Given the description of an element on the screen output the (x, y) to click on. 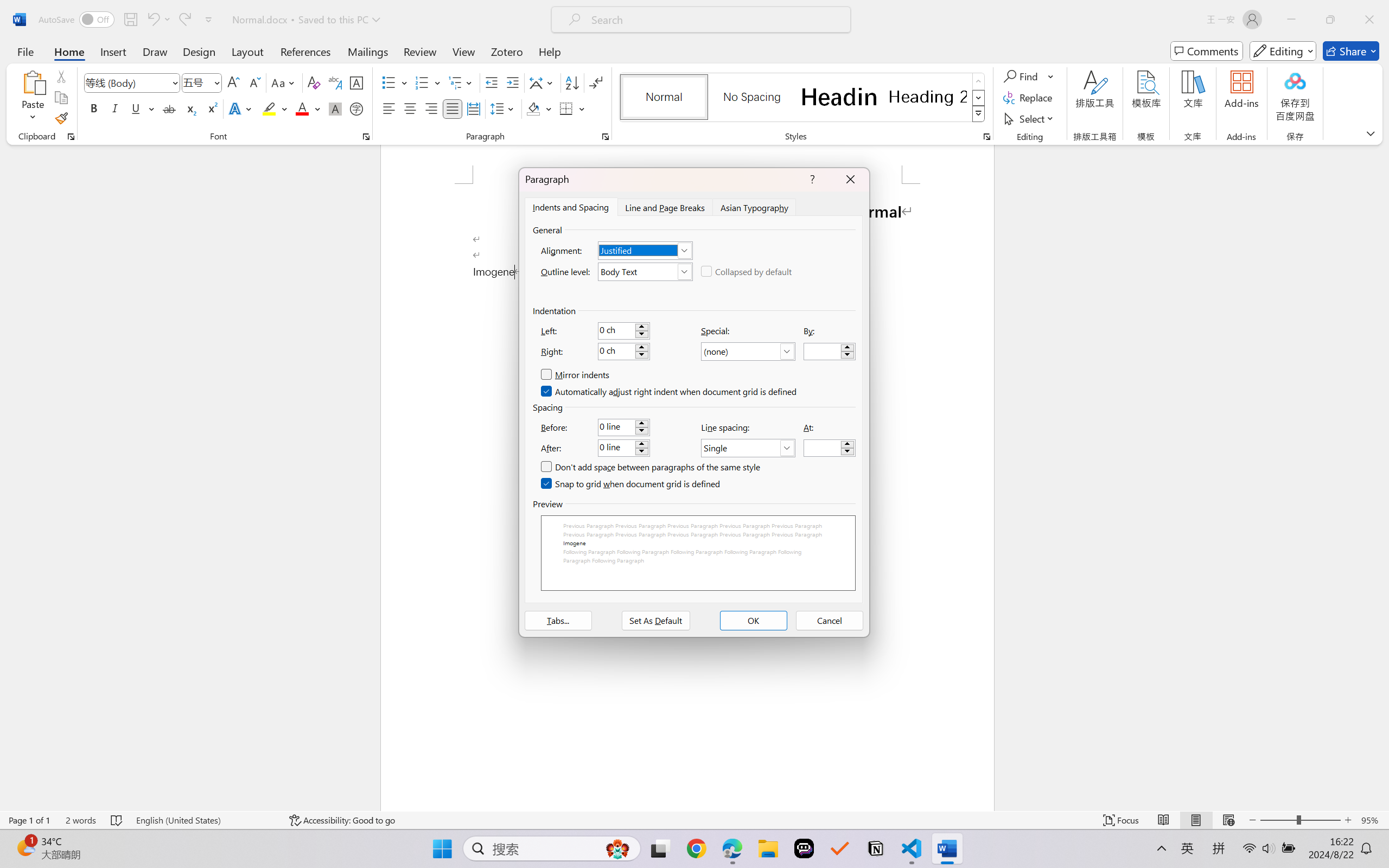
Line and Page Breaks (664, 206)
